Given the description of an element on the screen output the (x, y) to click on. 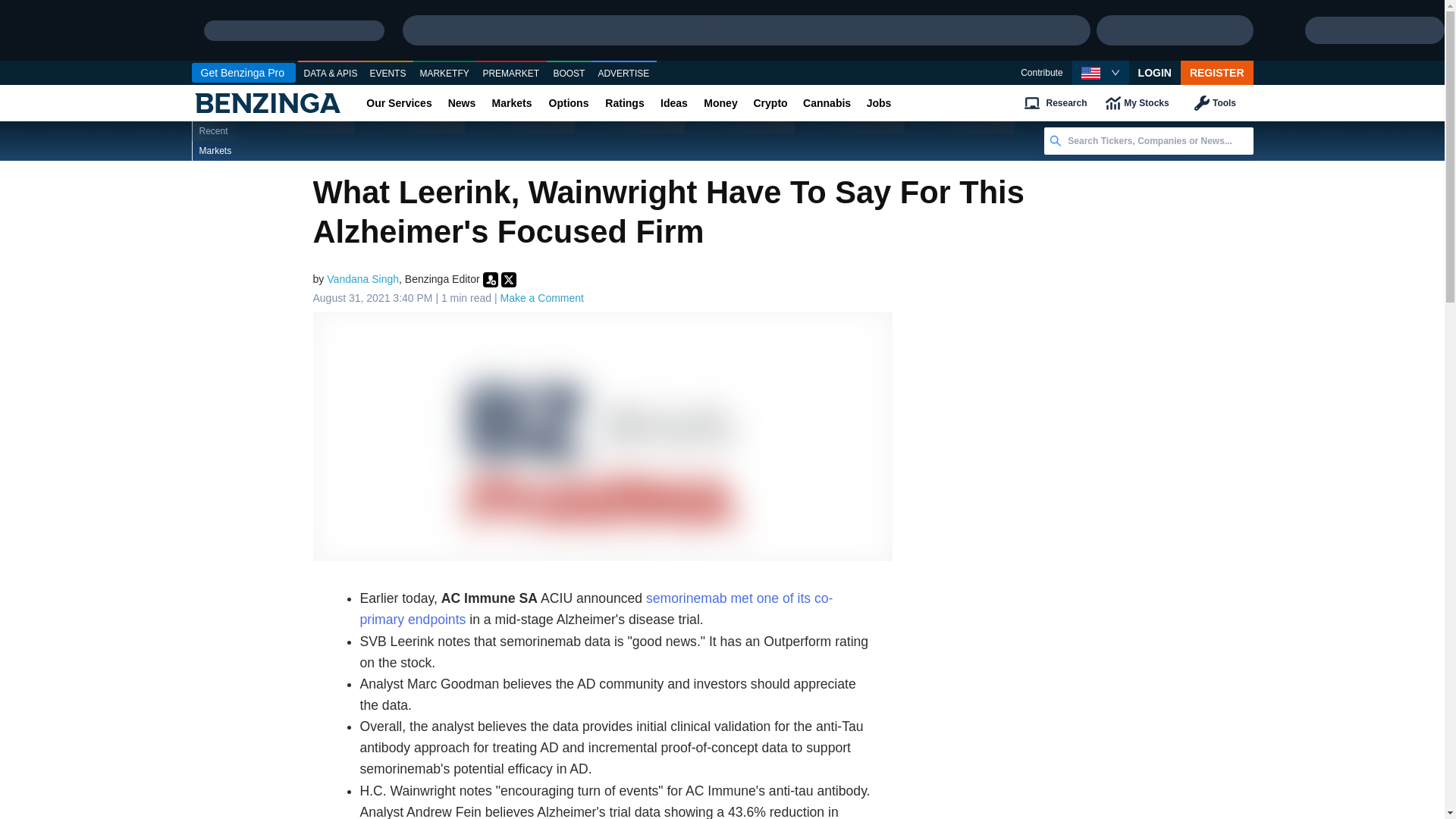
USA (1090, 72)
REGISTER (1216, 72)
LOGIN (1154, 72)
Get Benzinga Pro (242, 72)
Our Services (398, 103)
ADVERTISE (623, 73)
Contribute (1041, 72)
MARKETFY (444, 73)
BOOST (569, 73)
PREMARKET (511, 73)
